Given the description of an element on the screen output the (x, y) to click on. 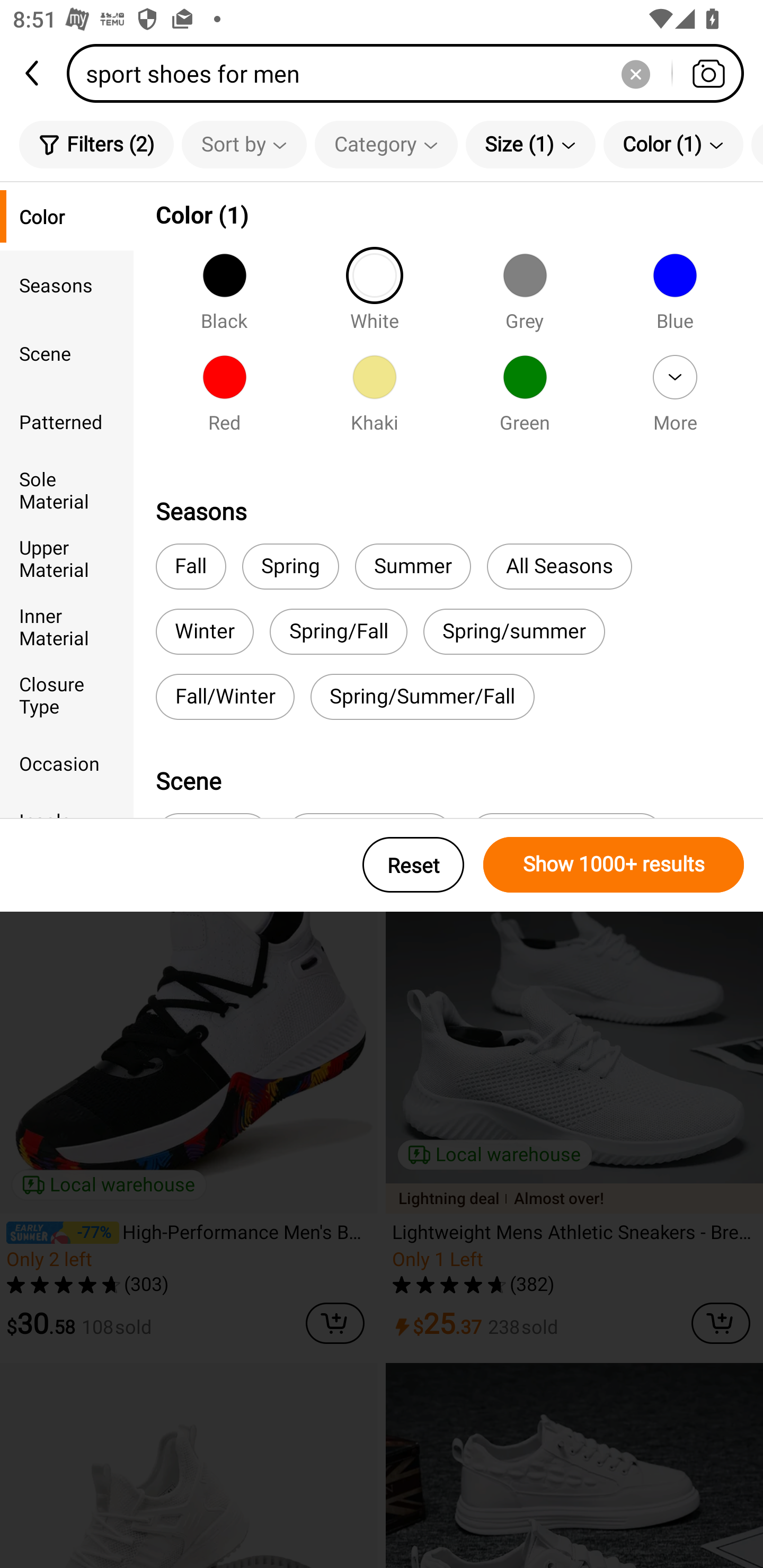
back (33, 72)
sport shoes for men (411, 73)
Delete search history (635, 73)
Search by photo (708, 73)
Filters (2) (96, 143)
Sort by (243, 143)
Category (385, 143)
Size (1) (530, 143)
Color (1) (673, 143)
Color (66, 215)
White (374, 297)
Seasons (66, 284)
Scene (66, 352)
Red (224, 399)
More (674, 399)
Patterned (66, 421)
Sole Material (66, 489)
Upper Material (66, 557)
Fall (190, 566)
Spring (289, 566)
Summer (412, 566)
All Seasons (558, 566)
Inner Material (66, 626)
Winter (204, 631)
Spring/Fall (338, 631)
Spring/summer (514, 631)
Closure Type (66, 694)
Fall/Winter (224, 696)
Spring/Summer/Fall (422, 696)
Occasion (66, 762)
Reset (412, 864)
Show 1000+ results (612, 864)
